Given the description of an element on the screen output the (x, y) to click on. 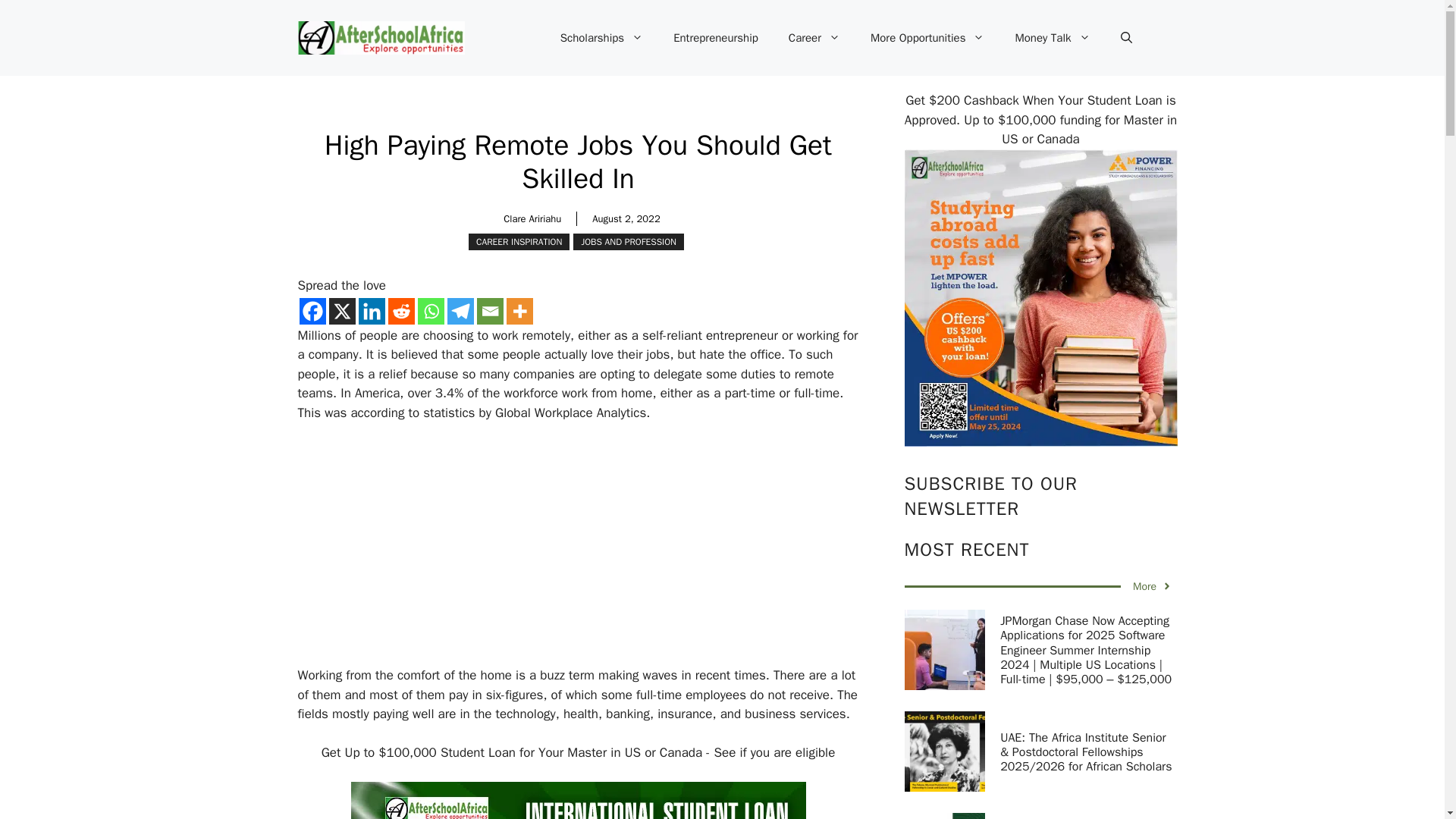
Email (489, 311)
Entrepreneurship (715, 37)
More (519, 311)
CAREER INSPIRATION (518, 241)
Facebook (311, 311)
Whatsapp (430, 311)
Telegram (460, 311)
X (342, 311)
Linkedin (371, 311)
Career (814, 37)
More Opportunities (928, 37)
JOBS AND PROFESSION (628, 241)
Money Talk (1051, 37)
Reddit (401, 311)
Scholarships (601, 37)
